Given the description of an element on the screen output the (x, y) to click on. 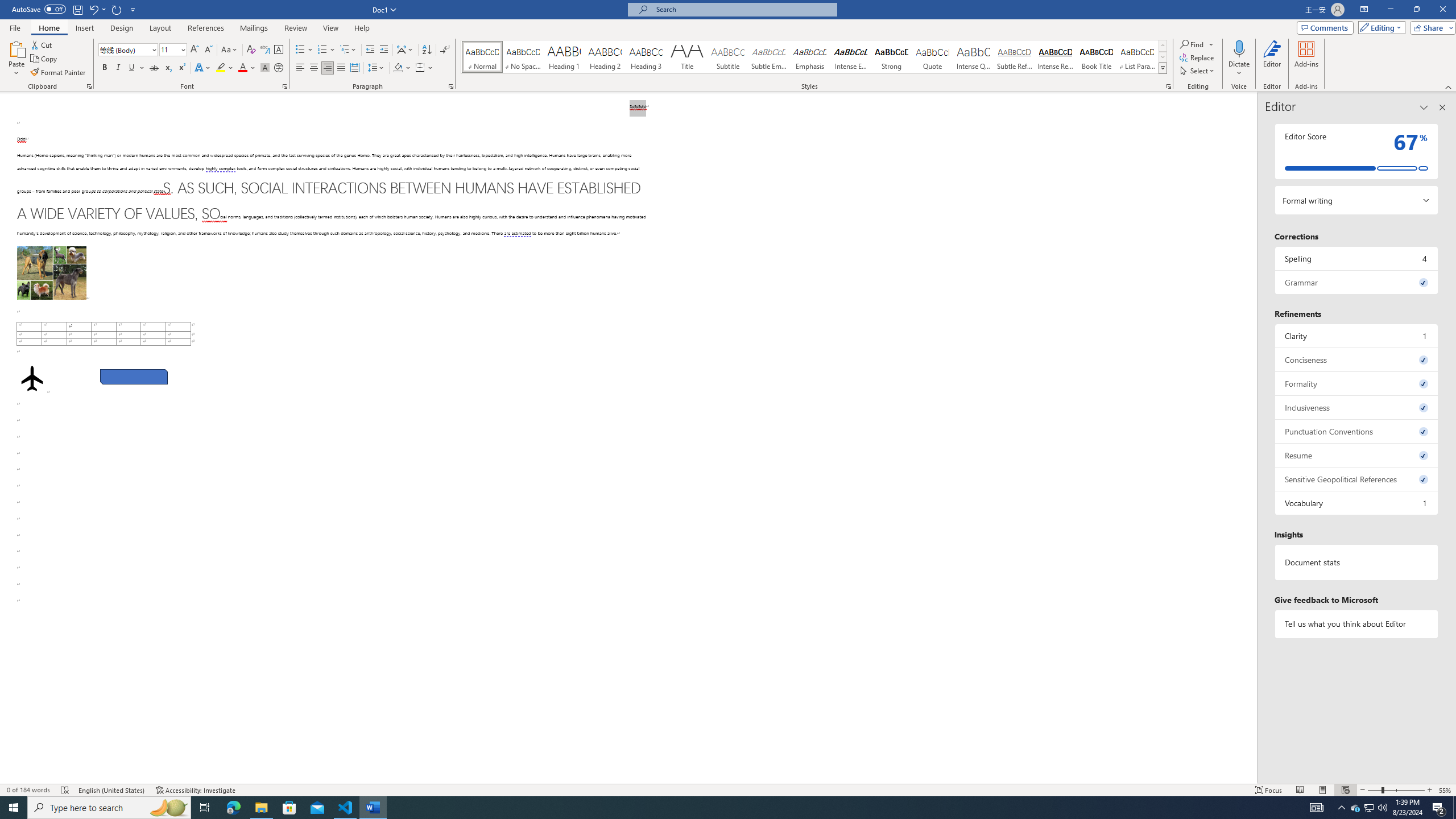
Formality, 0 issues. Press space or enter to review items. (1356, 383)
Superscript (180, 67)
Subtle Emphasis (768, 56)
Book Title (1095, 56)
Title (686, 56)
Text Effects and Typography (202, 67)
Distributed (354, 67)
Strikethrough (154, 67)
